Given the description of an element on the screen output the (x, y) to click on. 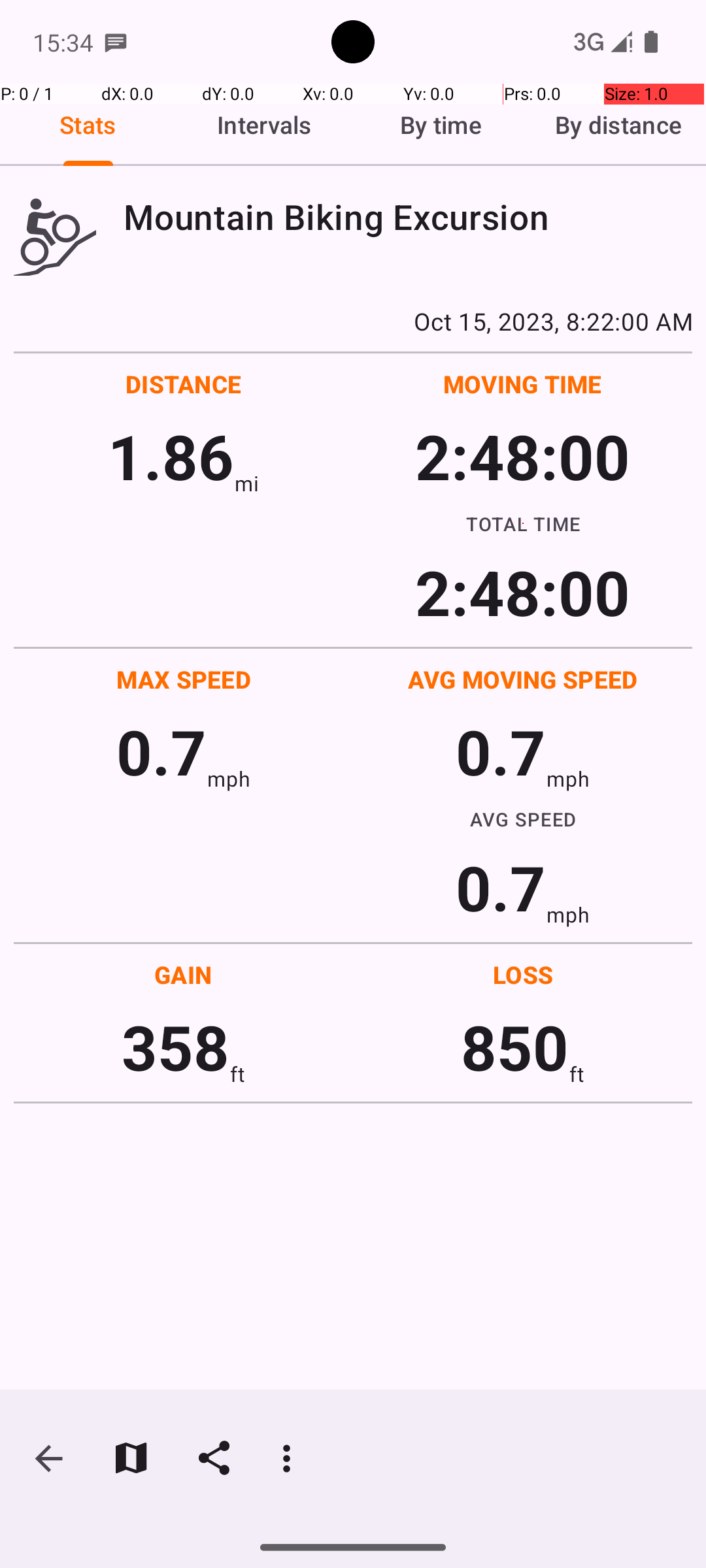
Mountain Biking Excursion Element type: android.widget.TextView (407, 216)
Oct 15, 2023, 8:22:00 AM Element type: android.widget.TextView (352, 320)
1.86 Element type: android.widget.TextView (170, 455)
2:48:00 Element type: android.widget.TextView (522, 455)
MAX SPEED Element type: android.widget.TextView (183, 678)
AVG MOVING SPEED Element type: android.widget.TextView (522, 678)
0.7 Element type: android.widget.TextView (161, 750)
mph Element type: android.widget.TextView (228, 778)
AVG SPEED Element type: android.widget.TextView (522, 818)
358 Element type: android.widget.TextView (175, 1045)
850 Element type: android.widget.TextView (514, 1045)
